Given the description of an element on the screen output the (x, y) to click on. 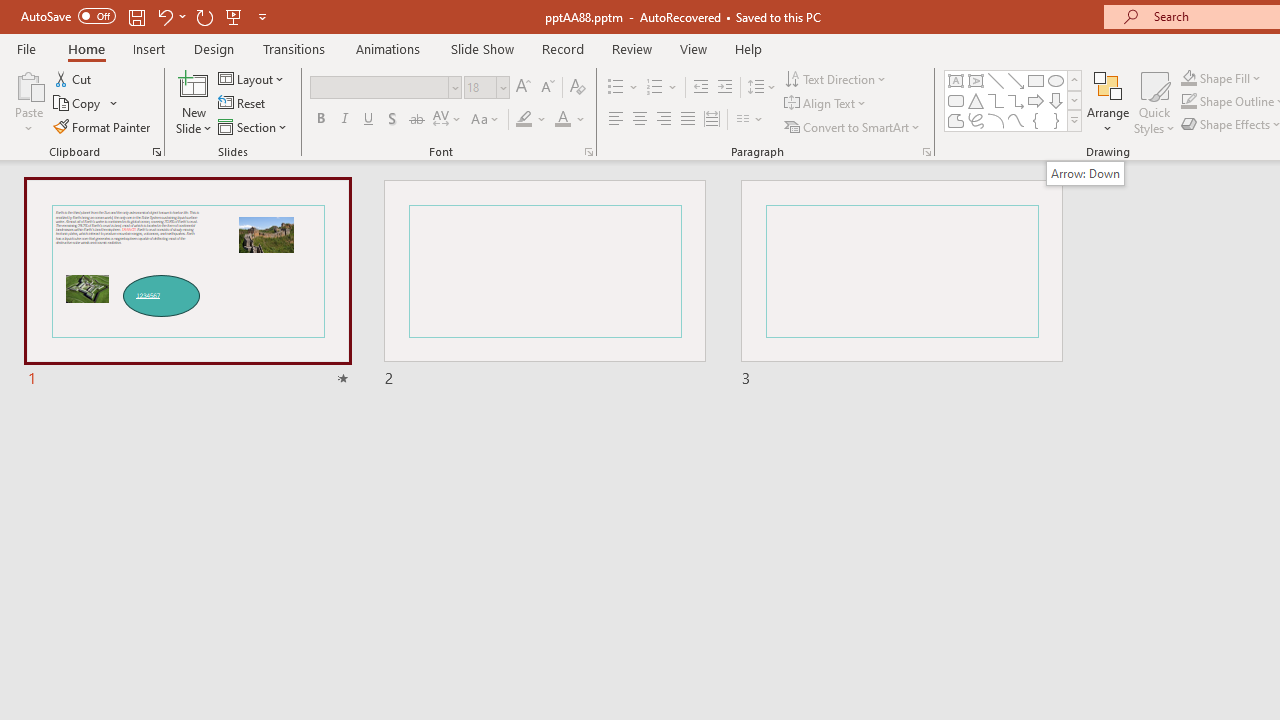
Align Text (826, 103)
Distributed (712, 119)
Justify (687, 119)
Rectangle: Rounded Corners (955, 100)
Arrow: Down (1055, 100)
Connector: Elbow Arrow (1016, 100)
Decrease Font Size (547, 87)
